Given the description of an element on the screen output the (x, y) to click on. 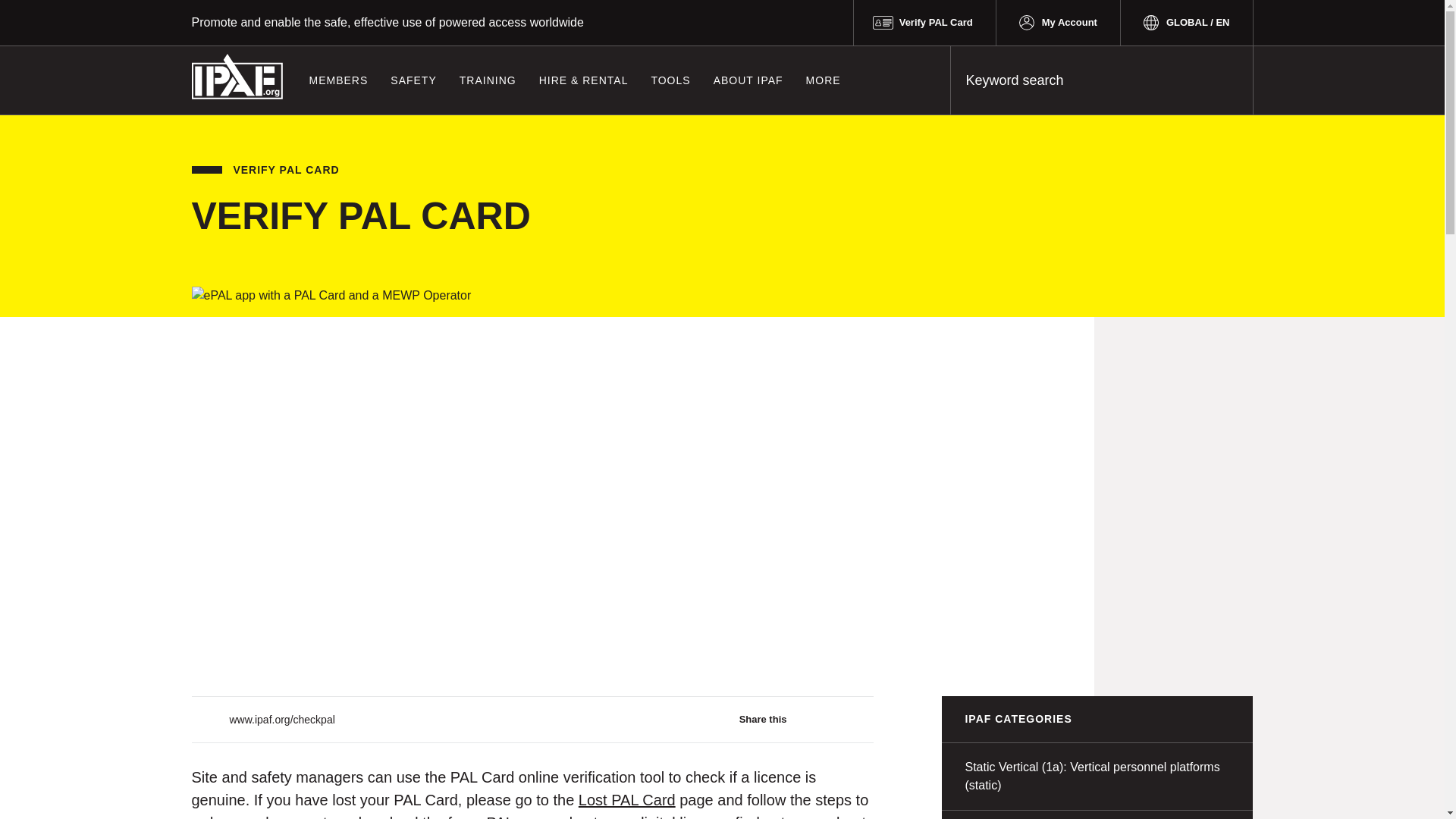
TOOLS (670, 79)
Training (487, 79)
Return to the IPAF homepage (236, 76)
About IPAF (747, 79)
Verify your PAL Card (924, 22)
Verify PAL Card (924, 22)
Members (337, 79)
TRAINING (487, 79)
IPAF.org (236, 76)
